Given the description of an element on the screen output the (x, y) to click on. 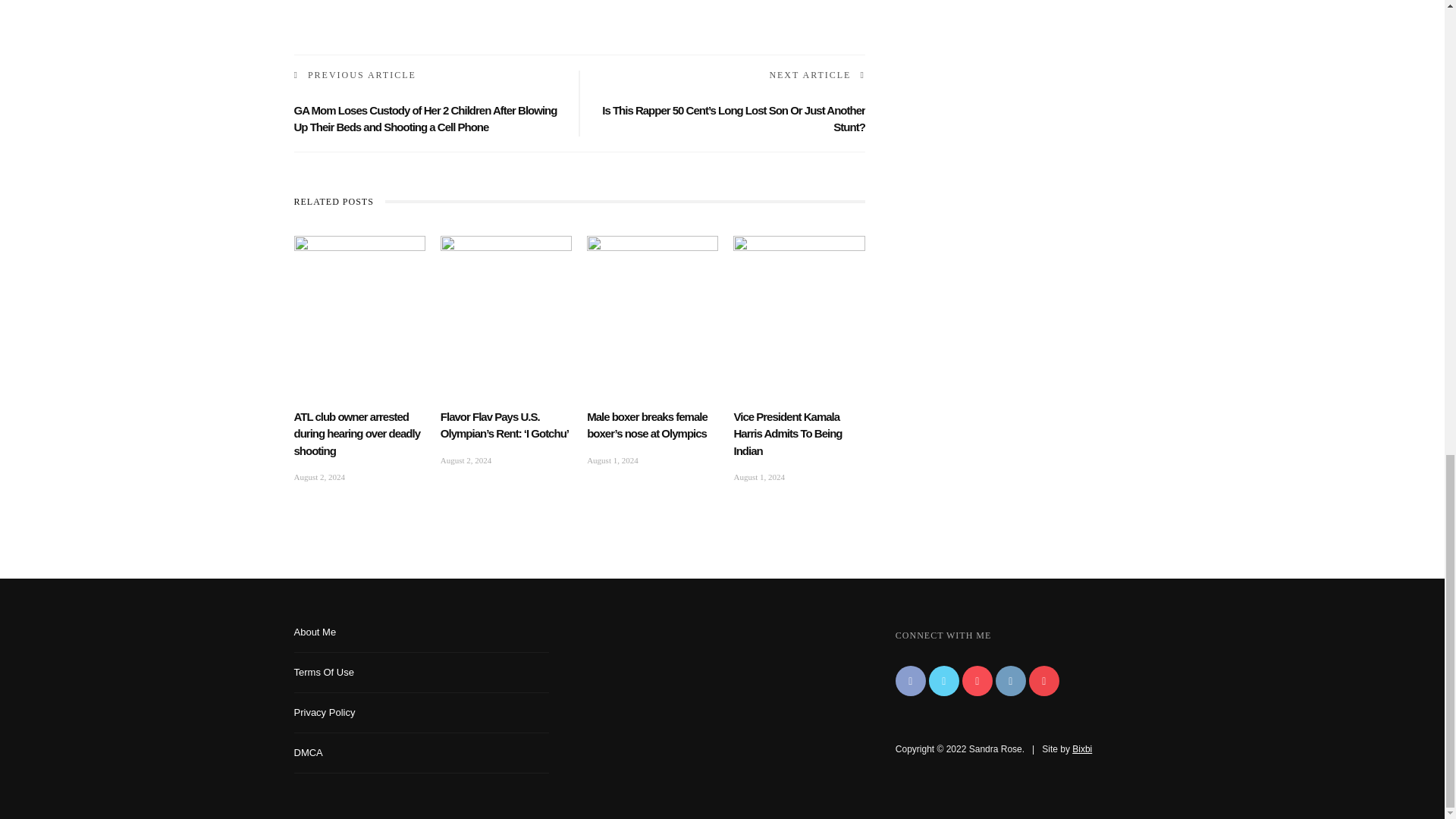
ATL club owner arrested during hearing over deadly shooting (357, 433)
ATL club owner arrested during hearing over deadly shooting (359, 273)
